Given the description of an element on the screen output the (x, y) to click on. 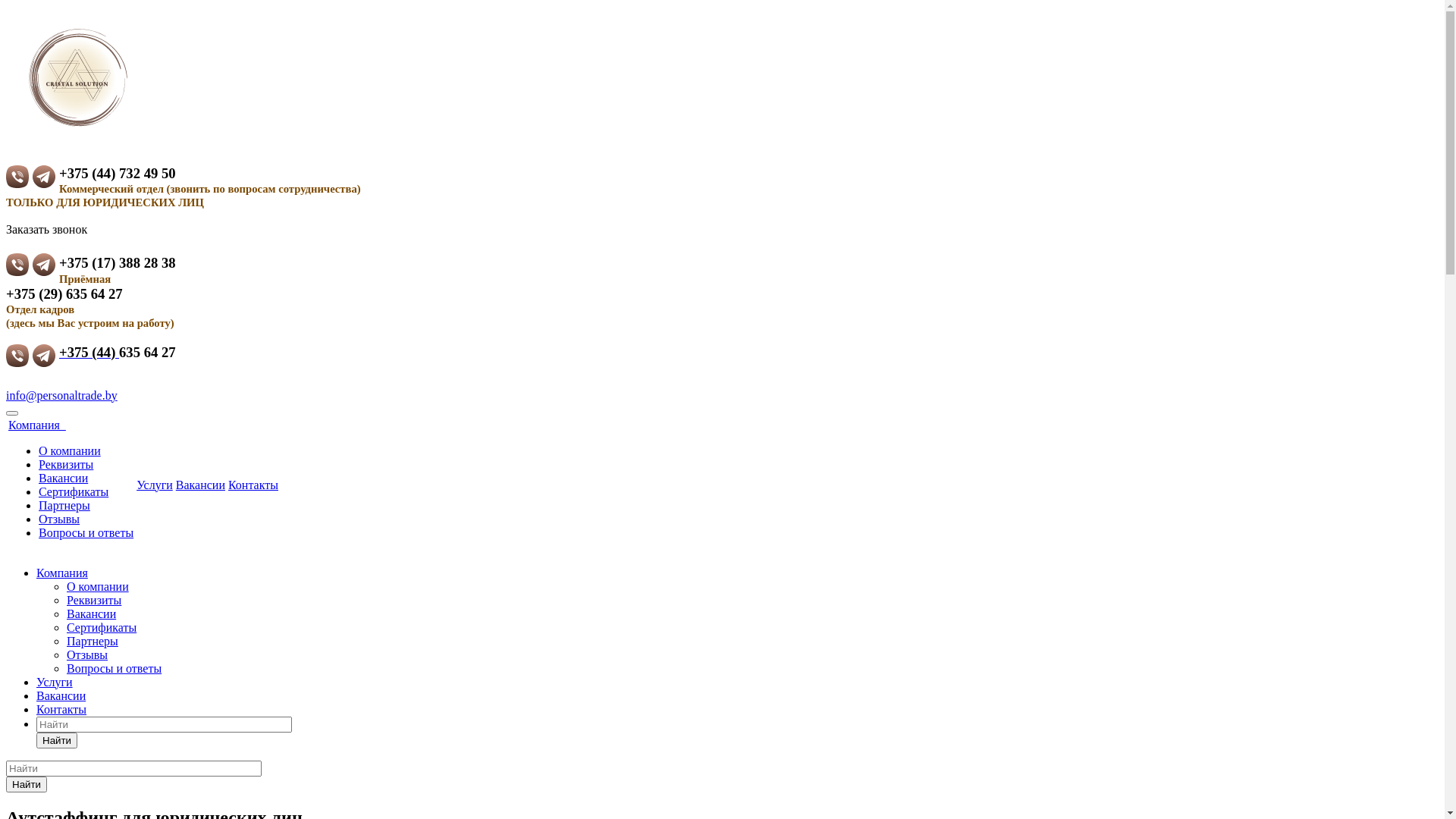
+375 (44)  Element type: text (89, 352)
info@personaltrade.by Element type: text (61, 395)
